Given the description of an element on the screen output the (x, y) to click on. 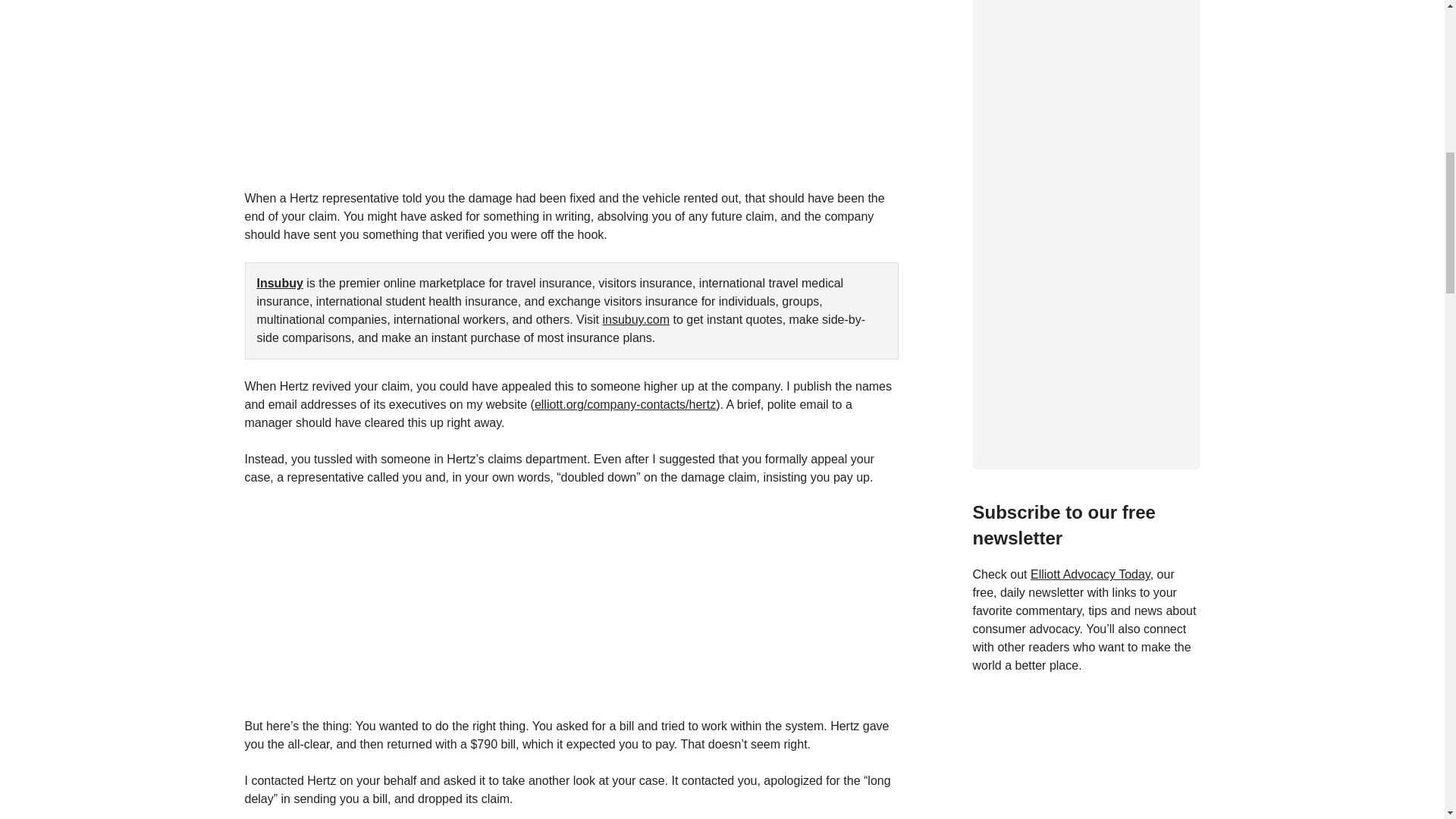
Advertisement (571, 94)
Advertisement (1085, 755)
